Given the description of an element on the screen output the (x, y) to click on. 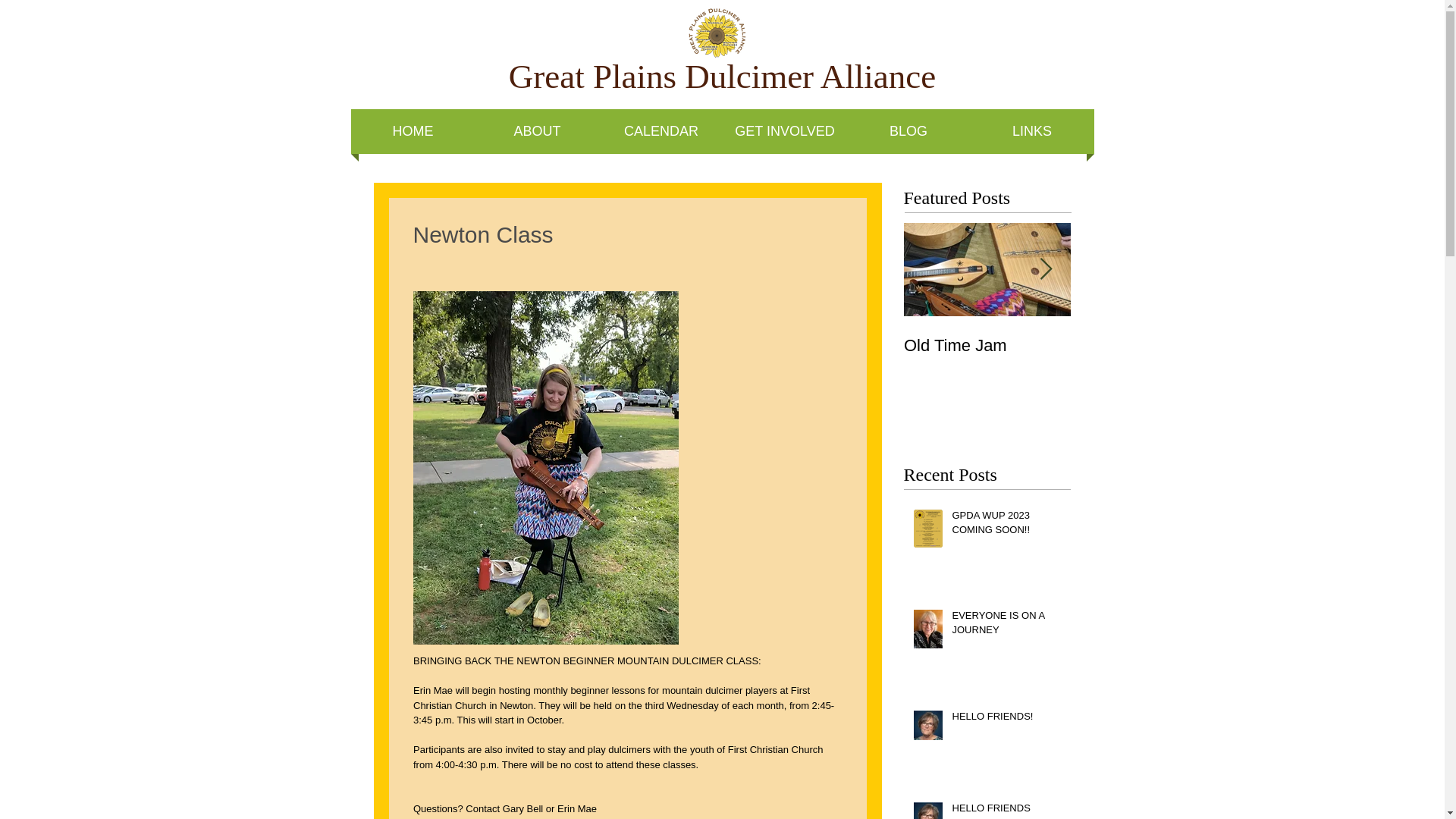
EVERYONE IS ON A JOURNEY (1006, 625)
HELLO FRIENDS (1006, 810)
Newton Class (1153, 345)
GET INVOLVED (785, 130)
CALENDAR (660, 130)
GPDA WUP 2023 COMING SOON!! (1006, 525)
ABOUT (536, 130)
LINKS (1032, 130)
BLOG (907, 130)
HOME (412, 130)
